Given the description of an element on the screen output the (x, y) to click on. 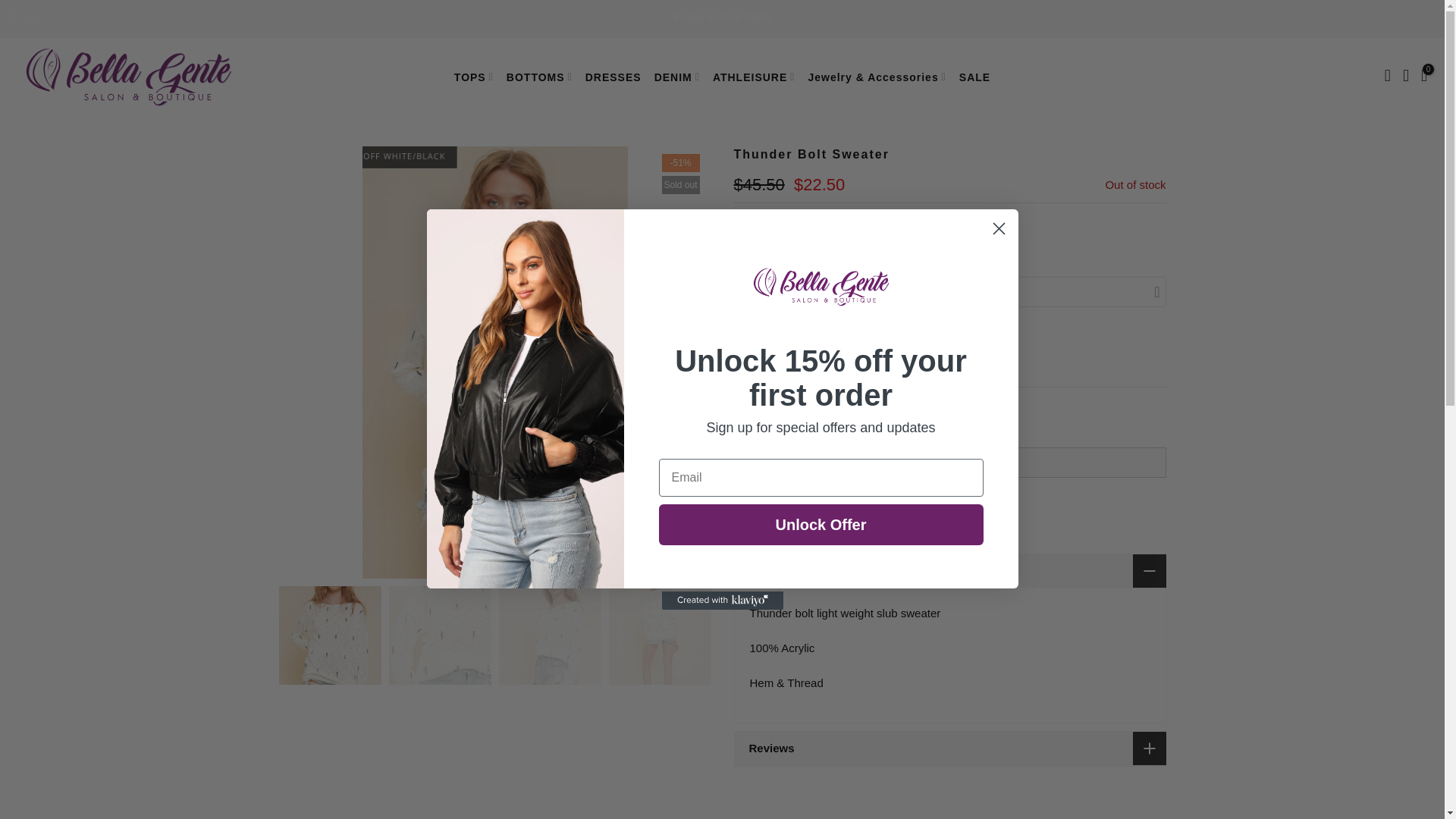
Reviews (949, 748)
Shipping (755, 227)
TOPS (472, 77)
0 (1423, 76)
DRESSES (612, 77)
Close dialog 1 (998, 228)
DENIM (676, 77)
Email me when available (815, 508)
Description (949, 570)
SALE (973, 77)
Email me when available (815, 508)
BOTTOMS (538, 77)
Out of stock (784, 352)
ATHLEISURE (754, 77)
